Given the description of an element on the screen output the (x, y) to click on. 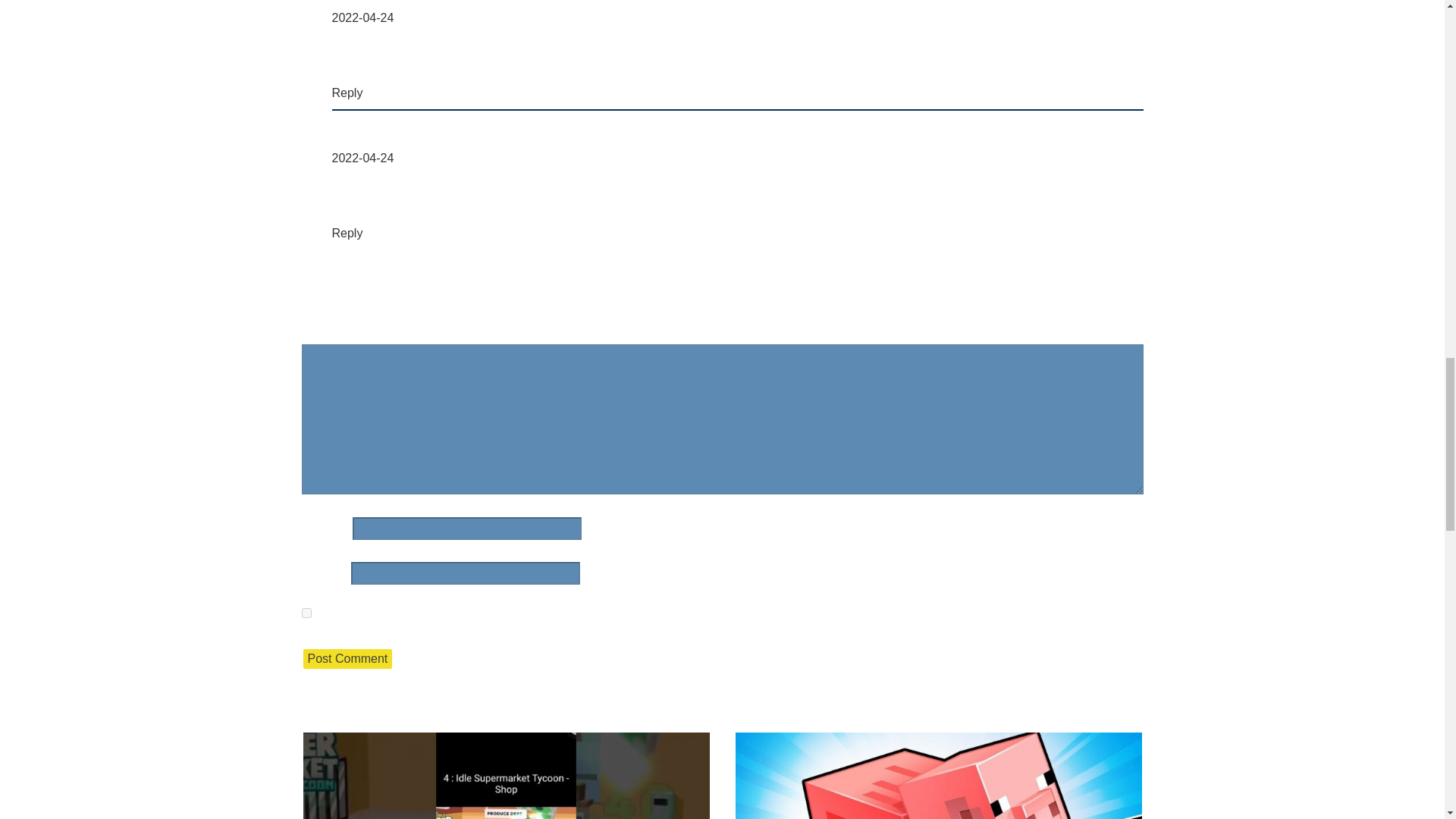
What If Minecraft Was a CLICKER Game (938, 775)
Reply (346, 232)
2022-04-24 (362, 157)
2022-04-24 (362, 17)
yes (306, 613)
Post Comment (347, 658)
Post Comment (347, 658)
Reply (346, 92)
